Given the description of an element on the screen output the (x, y) to click on. 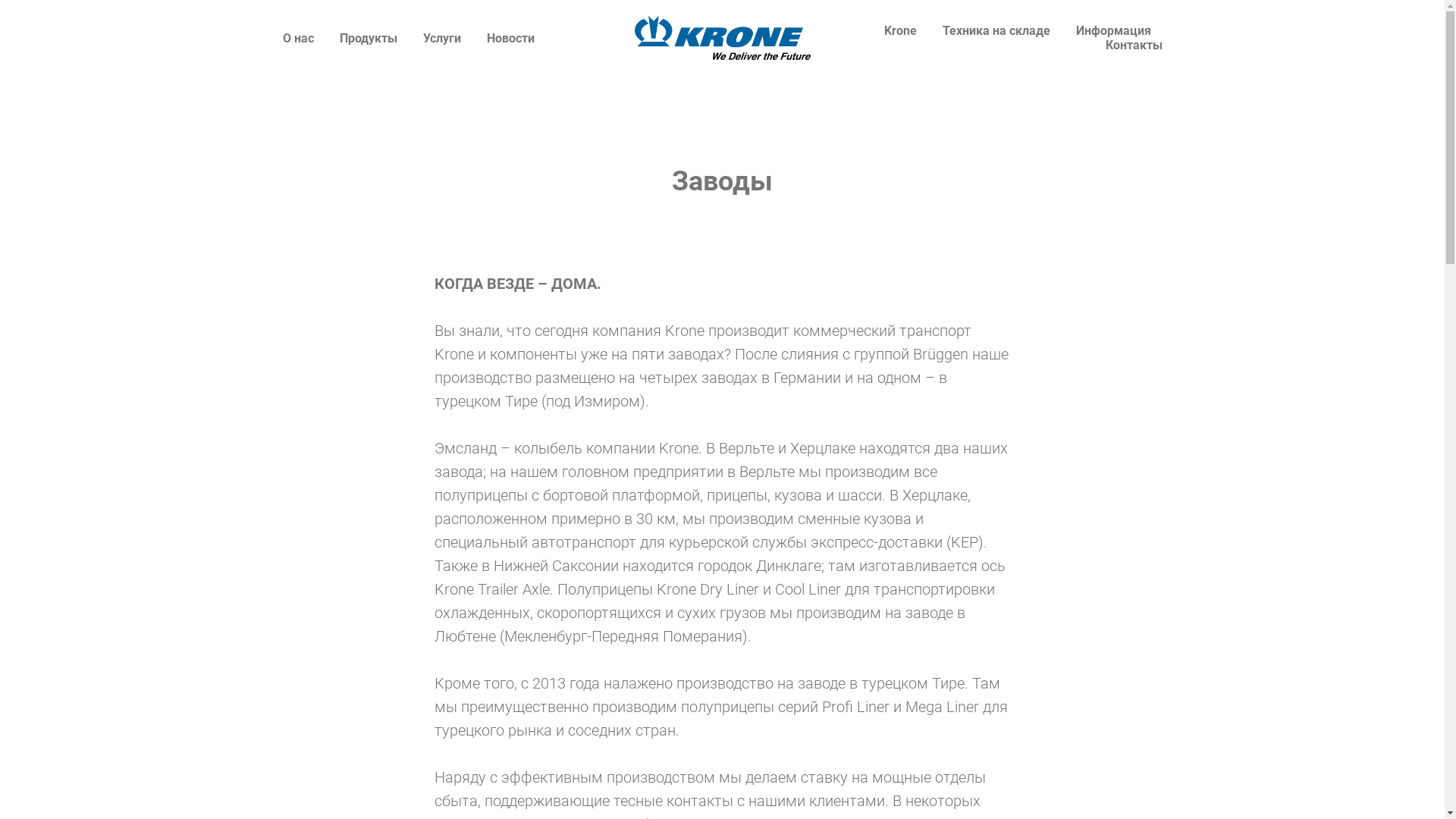
Krone Element type: text (900, 30)
